Given the description of an element on the screen output the (x, y) to click on. 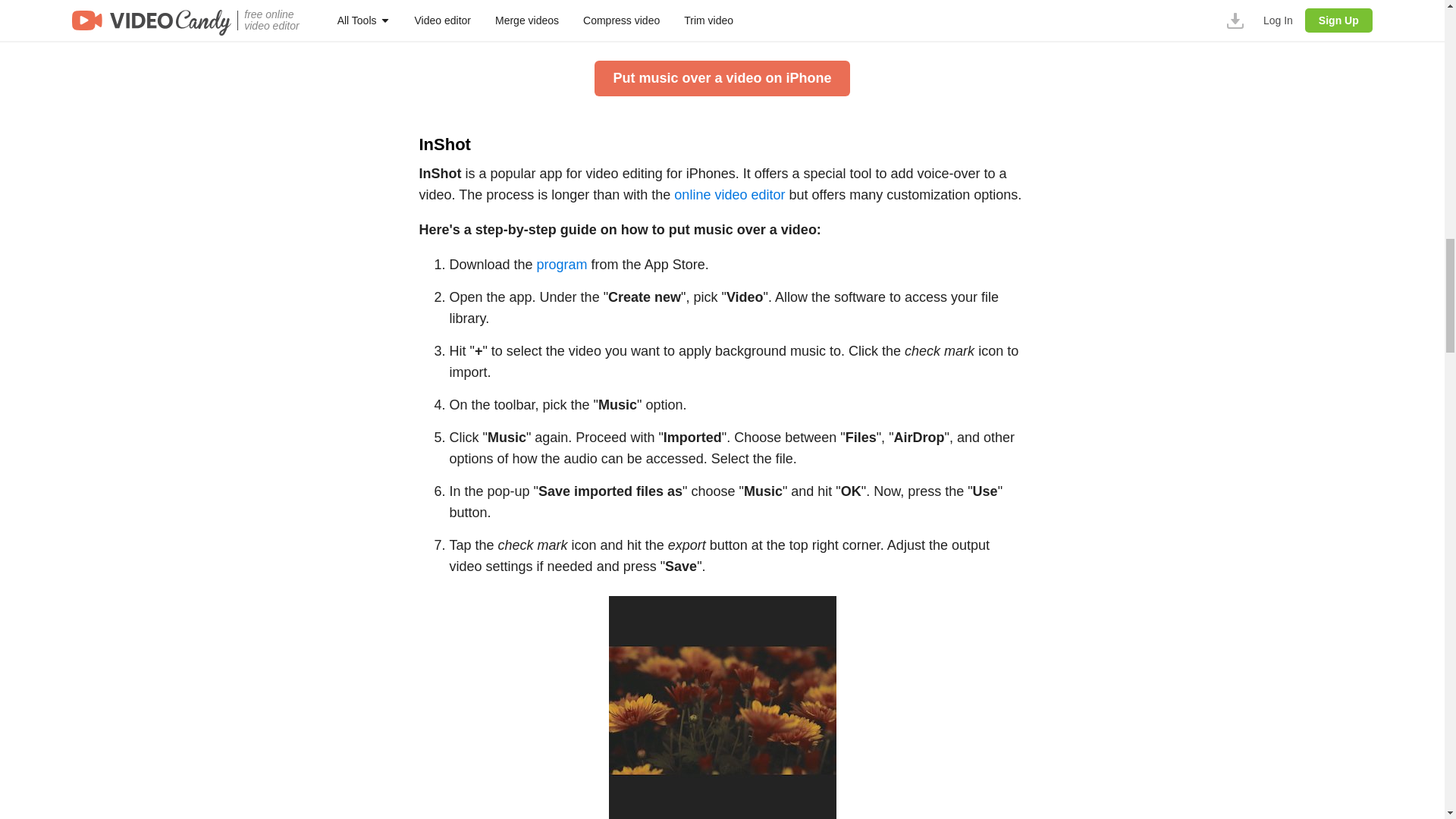
How to add music to your video on iPhone with InShot (721, 707)
Put music over a video on iPhone (721, 78)
